Given the description of an element on the screen output the (x, y) to click on. 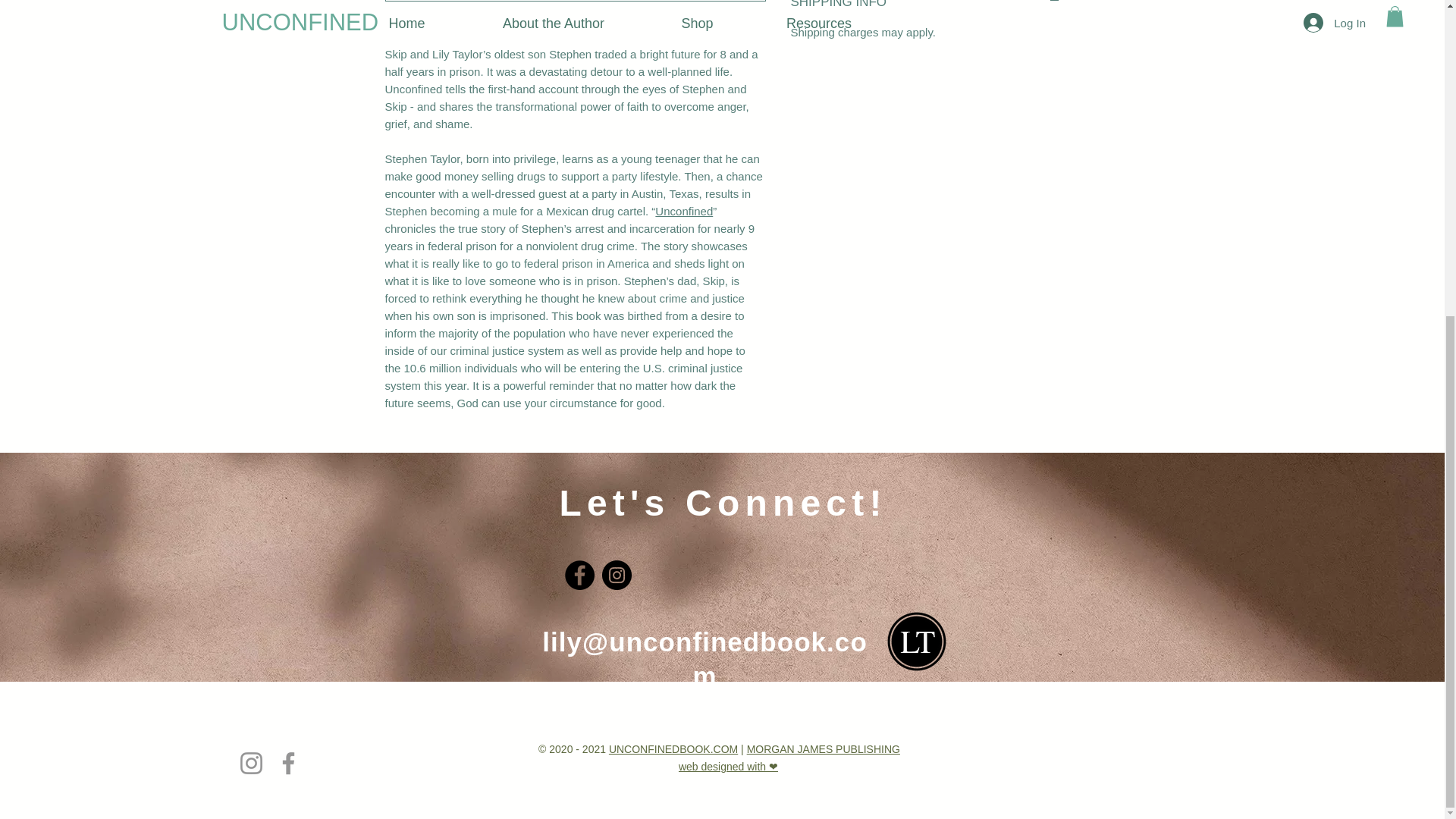
UNCONFINEDBOOK.COM (673, 748)
MORGAN JAMES PUBLISHING (822, 748)
SHIPPING INFO (924, 5)
